Given the description of an element on the screen output the (x, y) to click on. 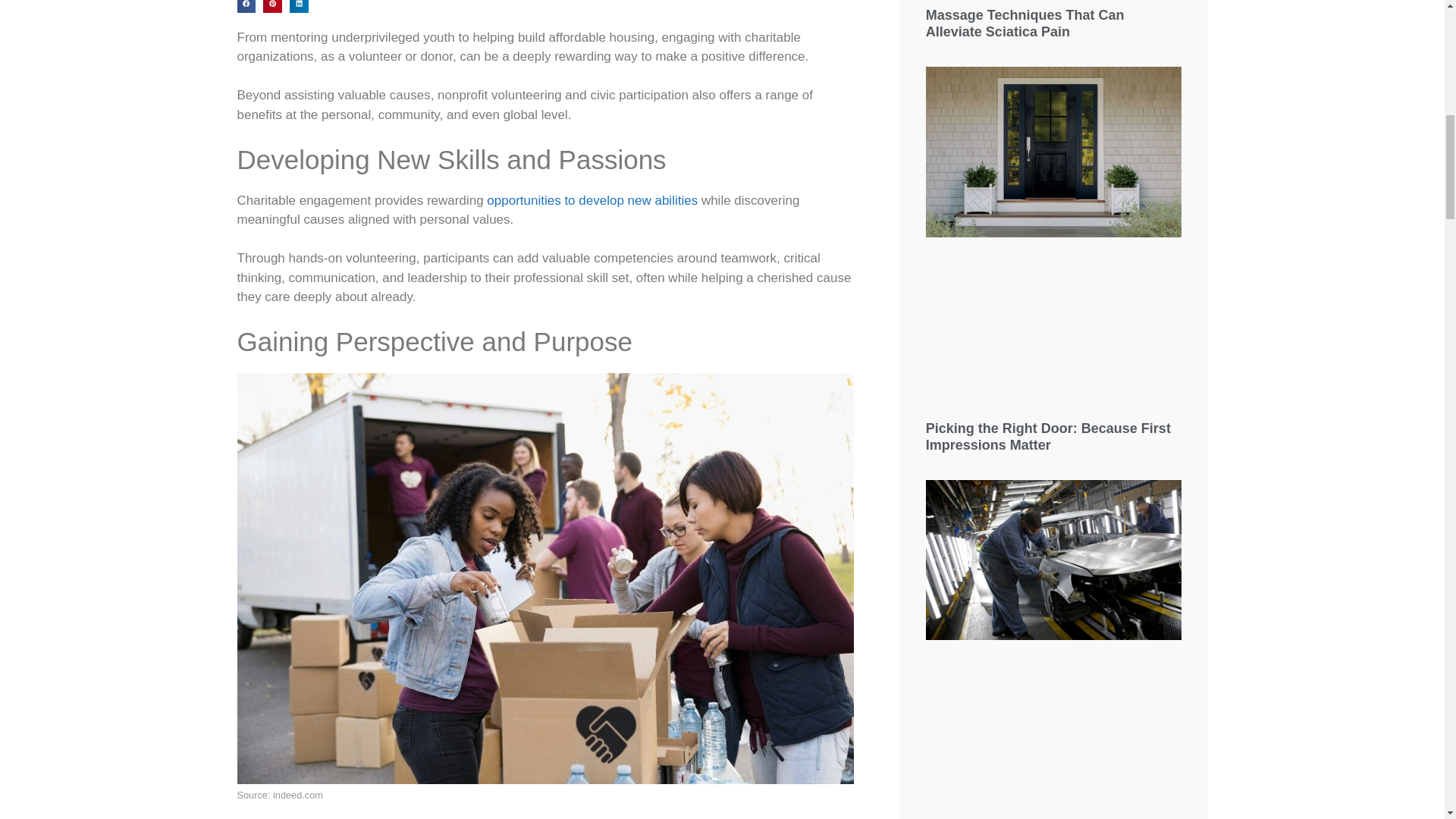
opportunities to develop new abilities (591, 200)
Picking the Right Door: Because First Impressions Matter (1048, 436)
Massage Techniques That Can Alleviate Sciatica Pain (1025, 23)
